Given the description of an element on the screen output the (x, y) to click on. 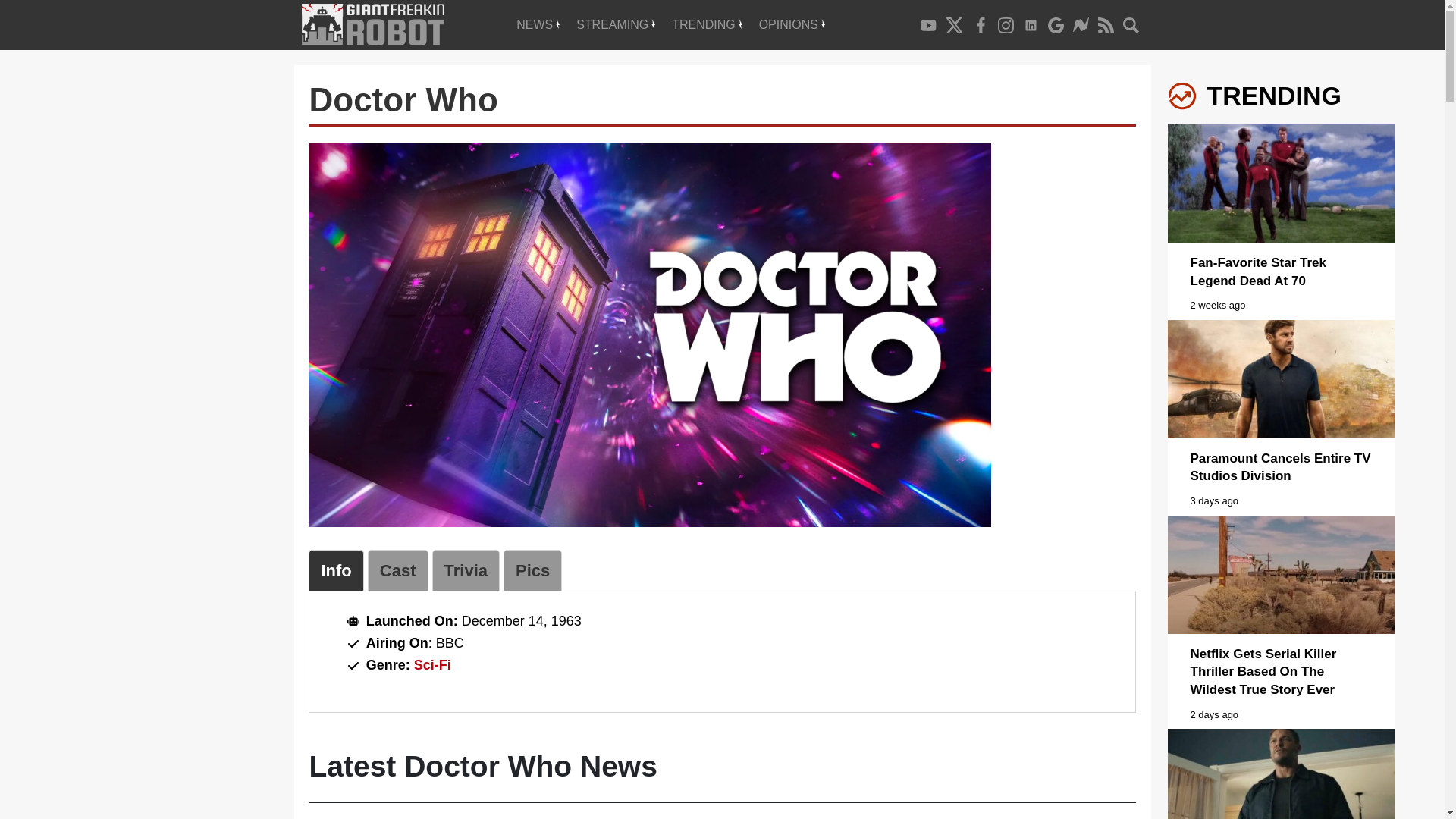
OPINIONS (791, 24)
Sci-Fi (432, 664)
Trending (706, 24)
Streaming (615, 24)
Entertainment News (537, 24)
STREAMING (615, 24)
NEWS (537, 24)
TRENDING (706, 24)
